Given the description of an element on the screen output the (x, y) to click on. 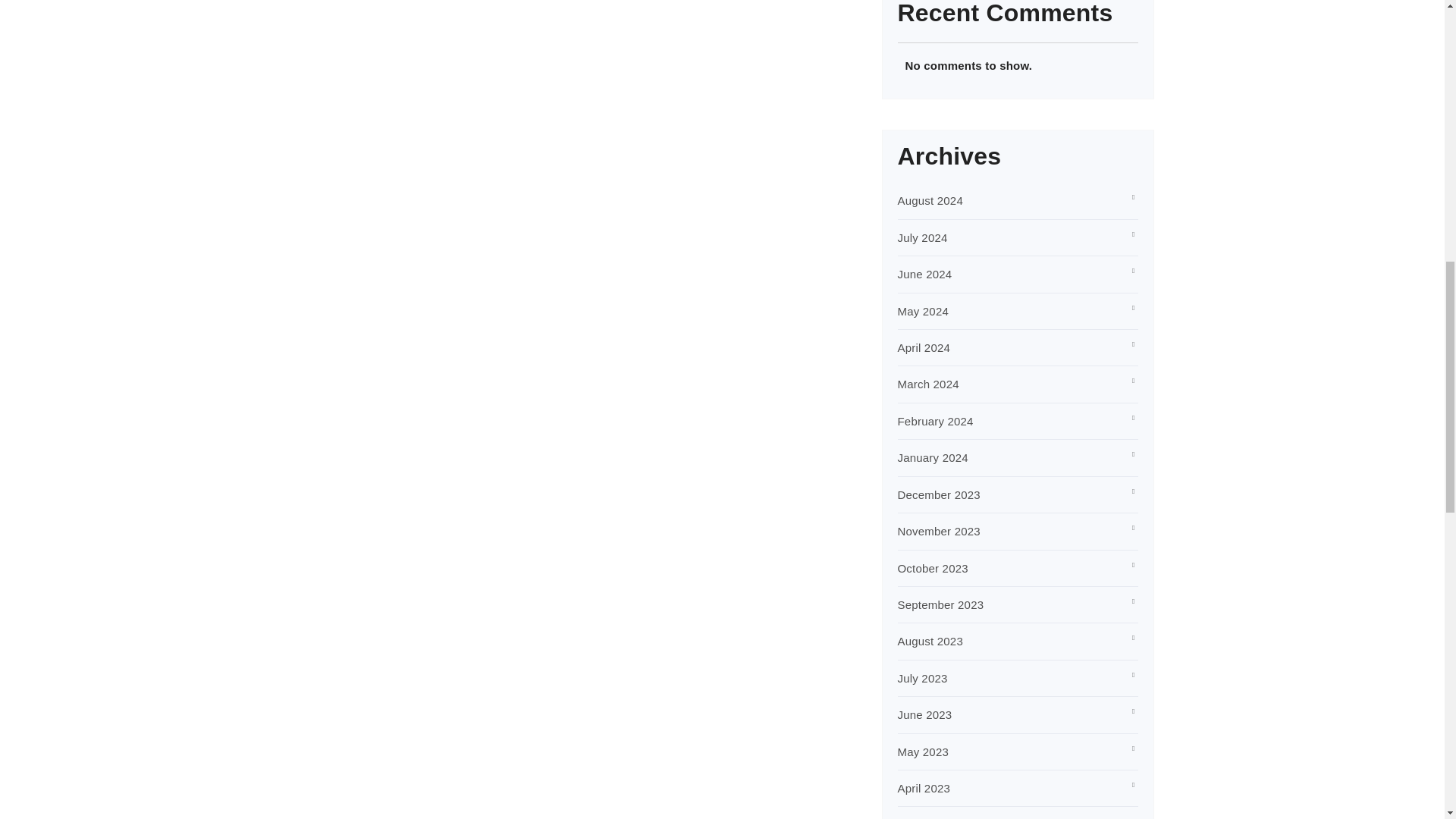
July 2023 (922, 677)
September 2023 (941, 604)
March 2024 (928, 383)
August 2023 (930, 640)
June 2024 (925, 273)
May 2024 (923, 310)
December 2023 (938, 494)
August 2024 (930, 200)
July 2024 (922, 237)
April 2024 (924, 347)
